Given the description of an element on the screen output the (x, y) to click on. 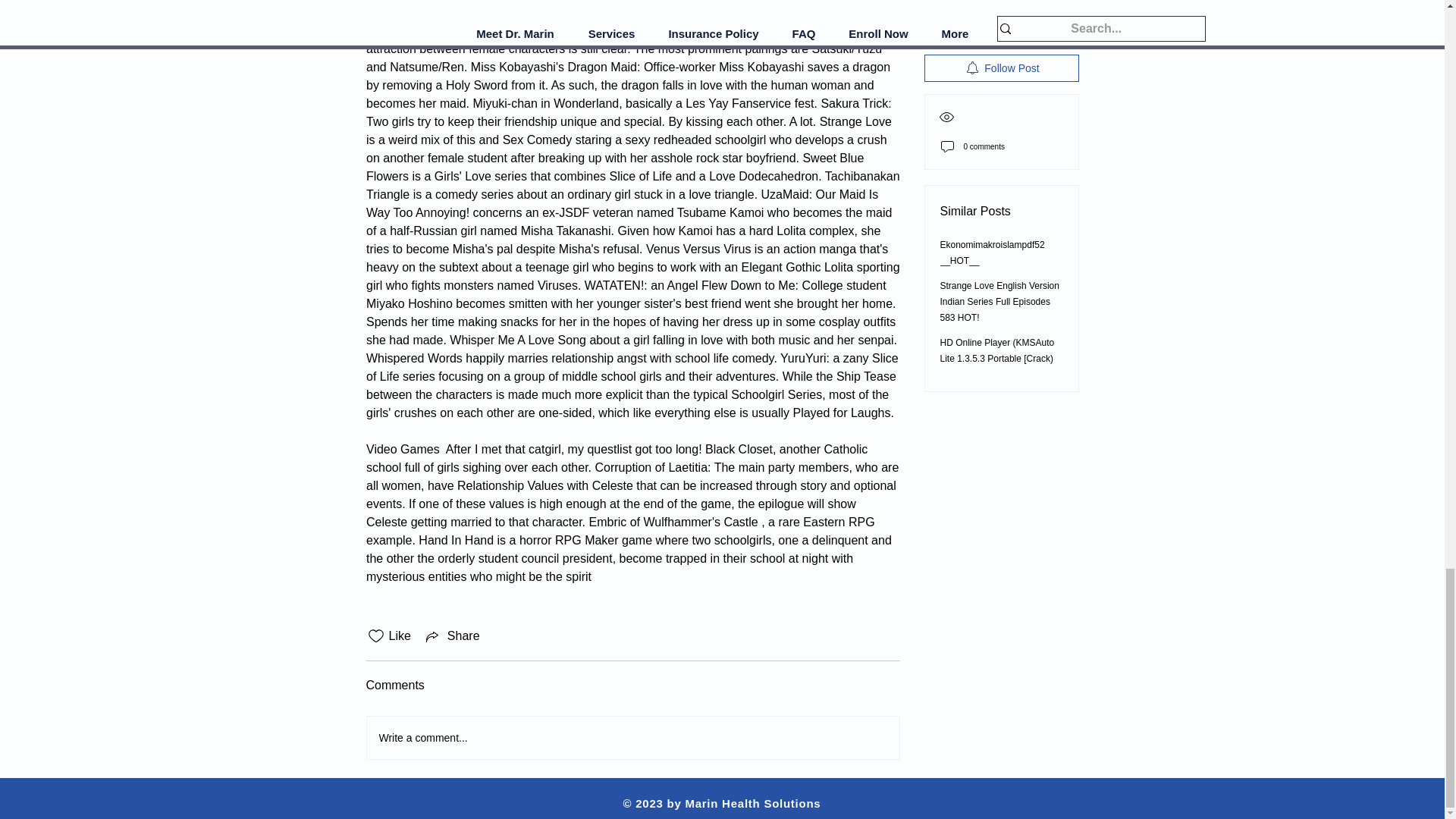
Write a comment... (632, 737)
Share (451, 636)
